Given the description of an element on the screen output the (x, y) to click on. 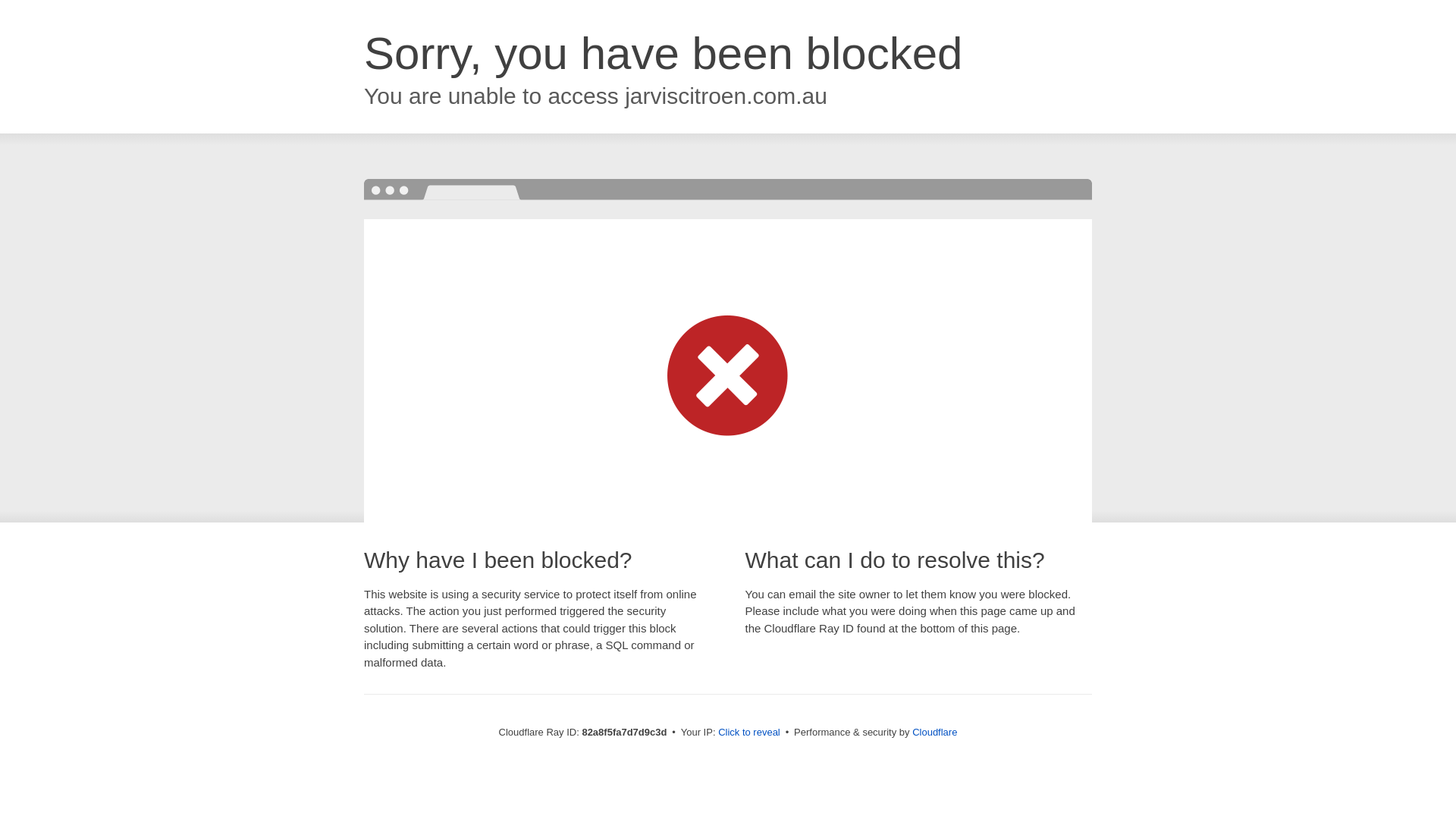
Cloudflare Element type: text (934, 731)
Click to reveal Element type: text (749, 732)
